Given the description of an element on the screen output the (x, y) to click on. 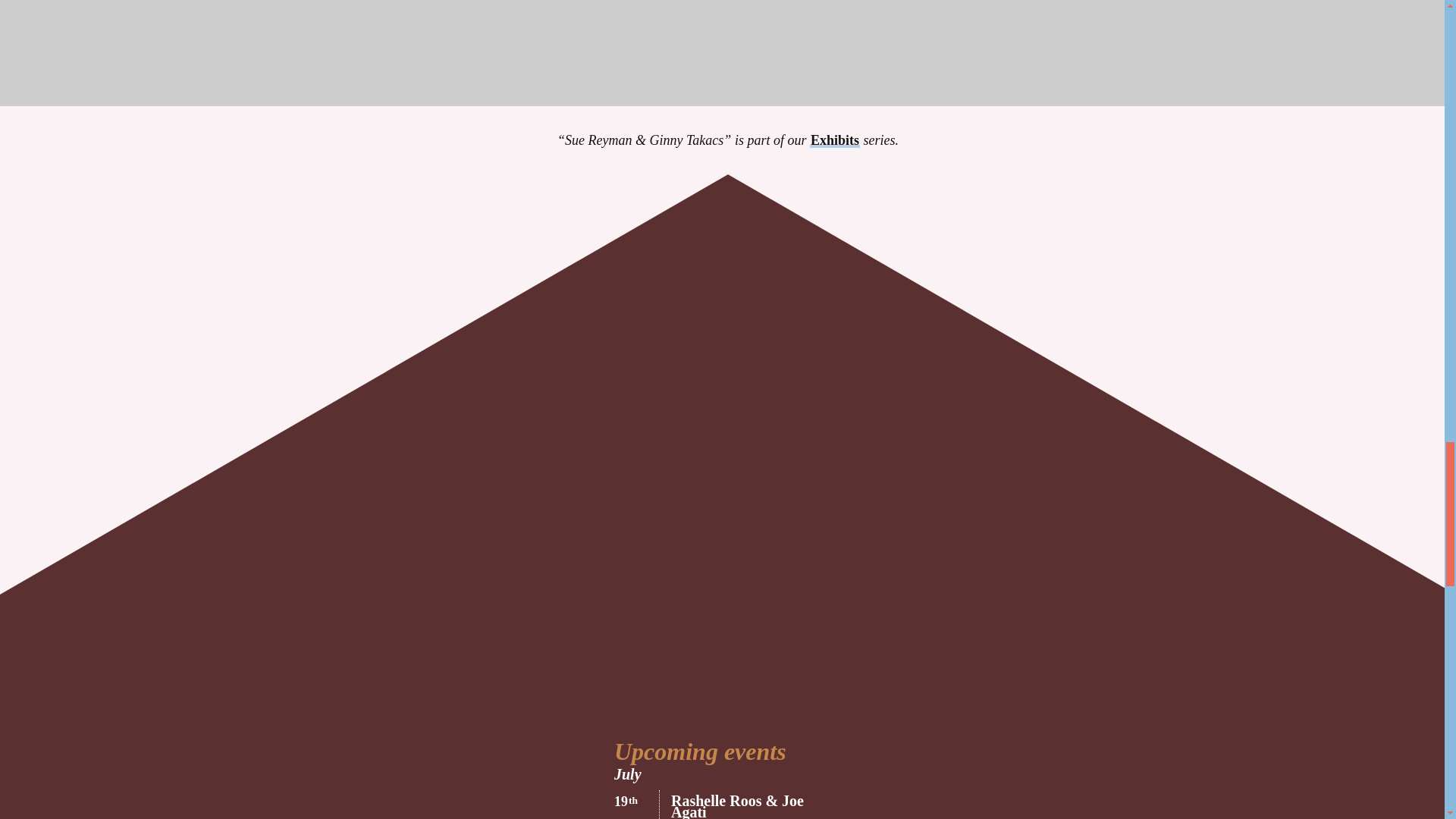
Exhibits (834, 140)
